Given the description of an element on the screen output the (x, y) to click on. 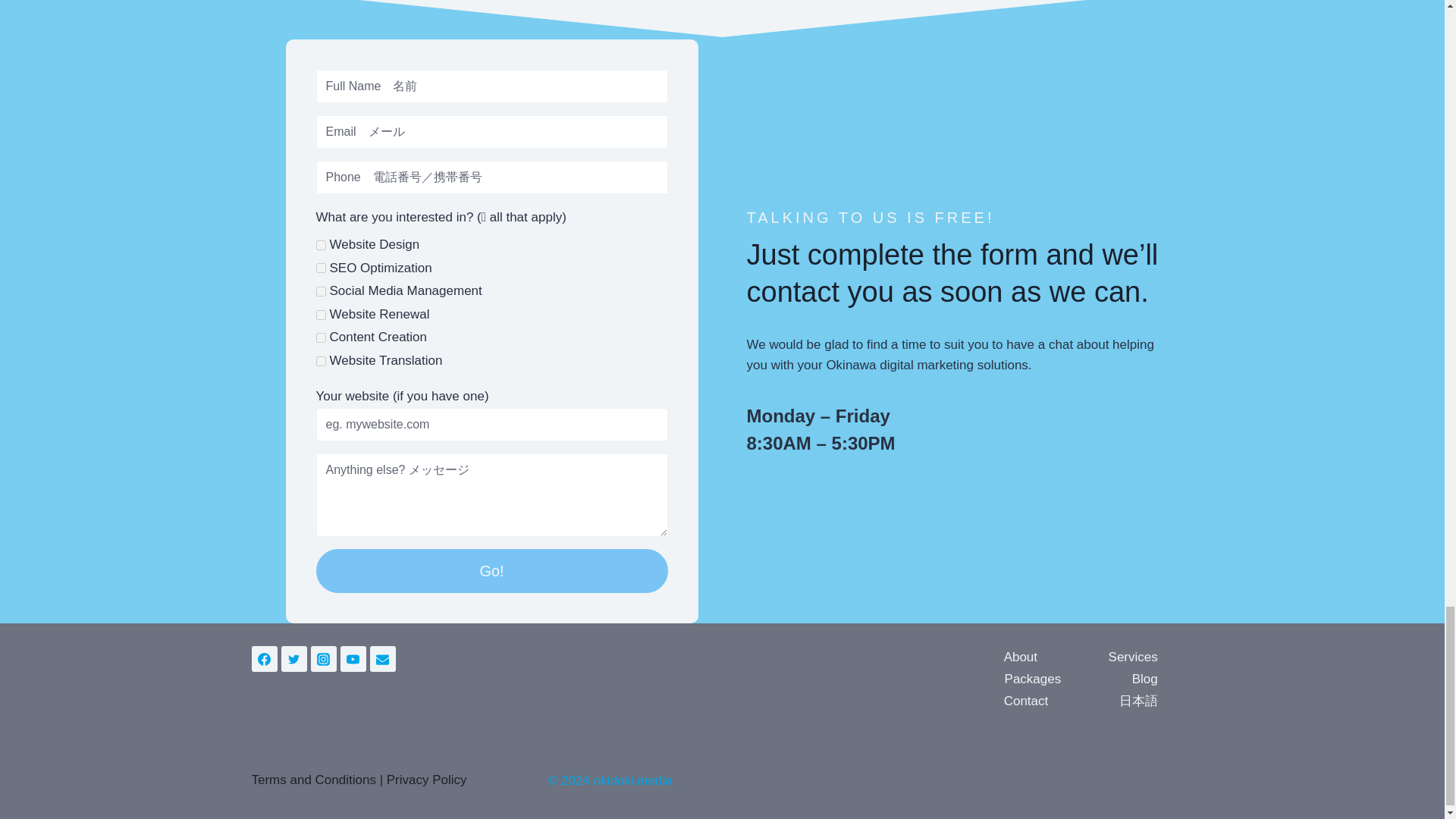
Website Translation (319, 361)
Website Renewal (319, 315)
SEO Optimization (319, 267)
Content Creation (319, 337)
Social Media Management (319, 291)
Website Design (319, 245)
